Given the description of an element on the screen output the (x, y) to click on. 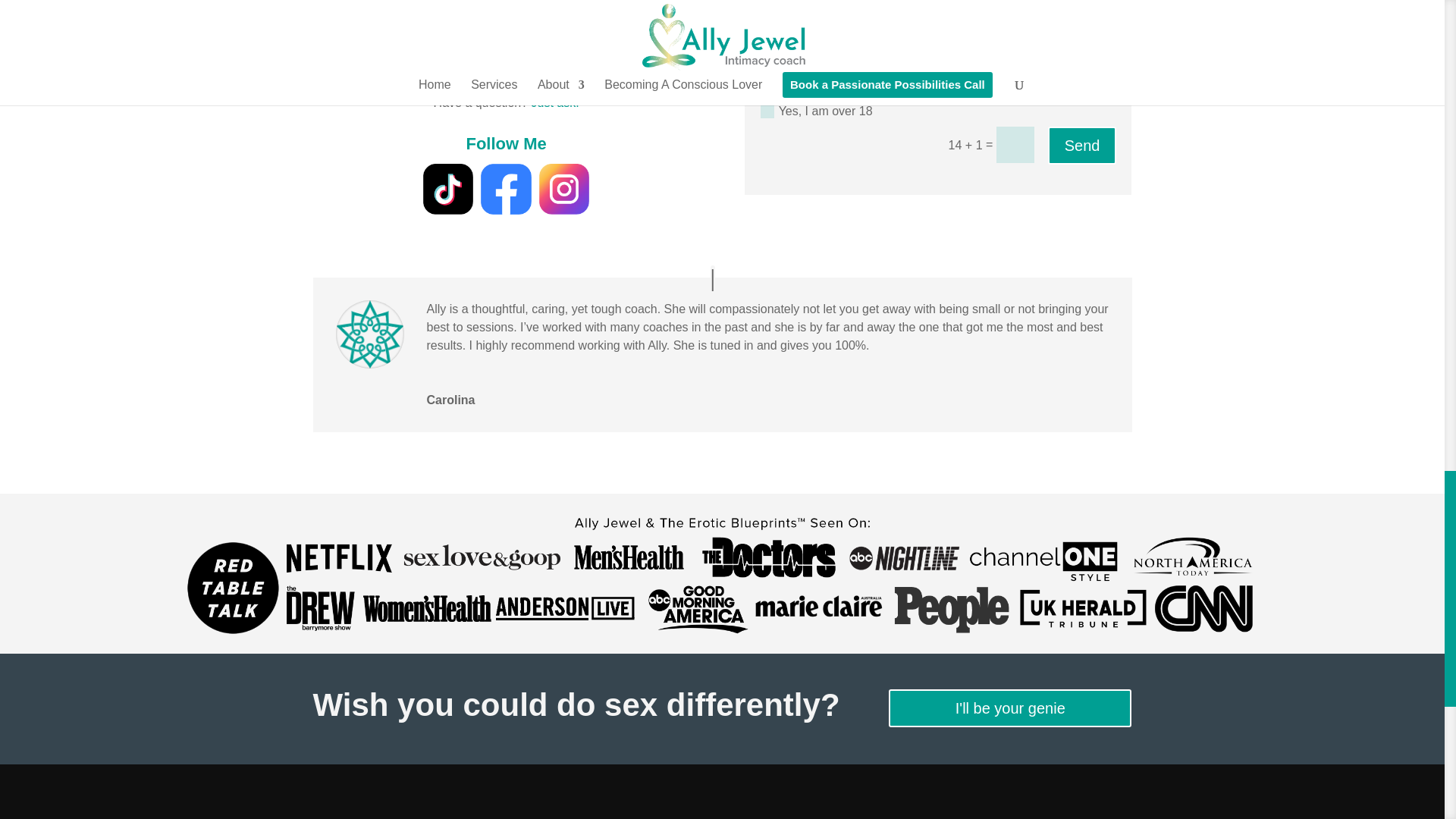
Send (1082, 145)
I'll be your genie (1009, 708)
Just ask. (555, 102)
